Given the description of an element on the screen output the (x, y) to click on. 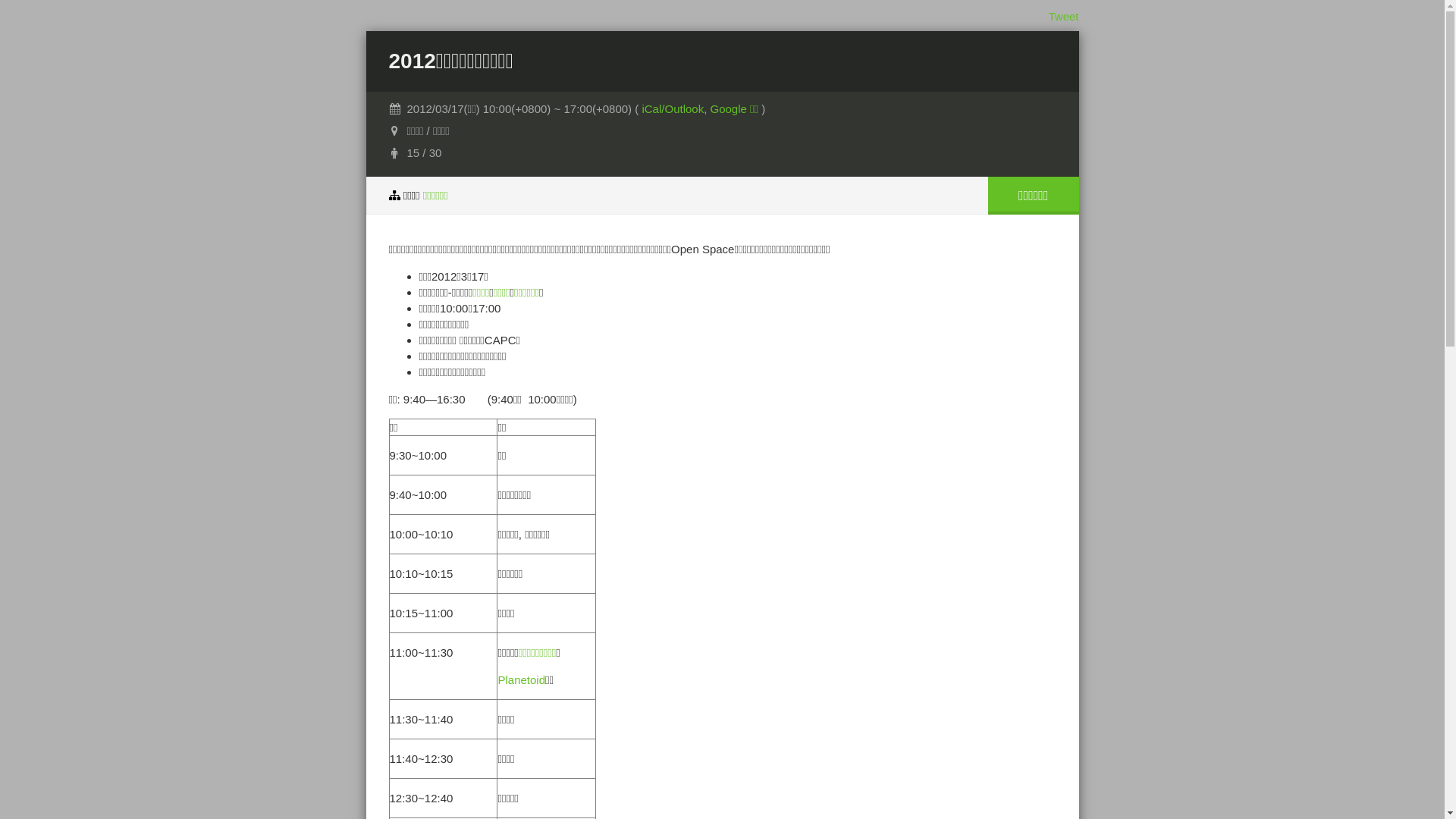
Tweet Element type: text (1063, 15)
Planetoid Element type: text (521, 679)
iCal/Outlook Element type: text (672, 108)
